Given the description of an element on the screen output the (x, y) to click on. 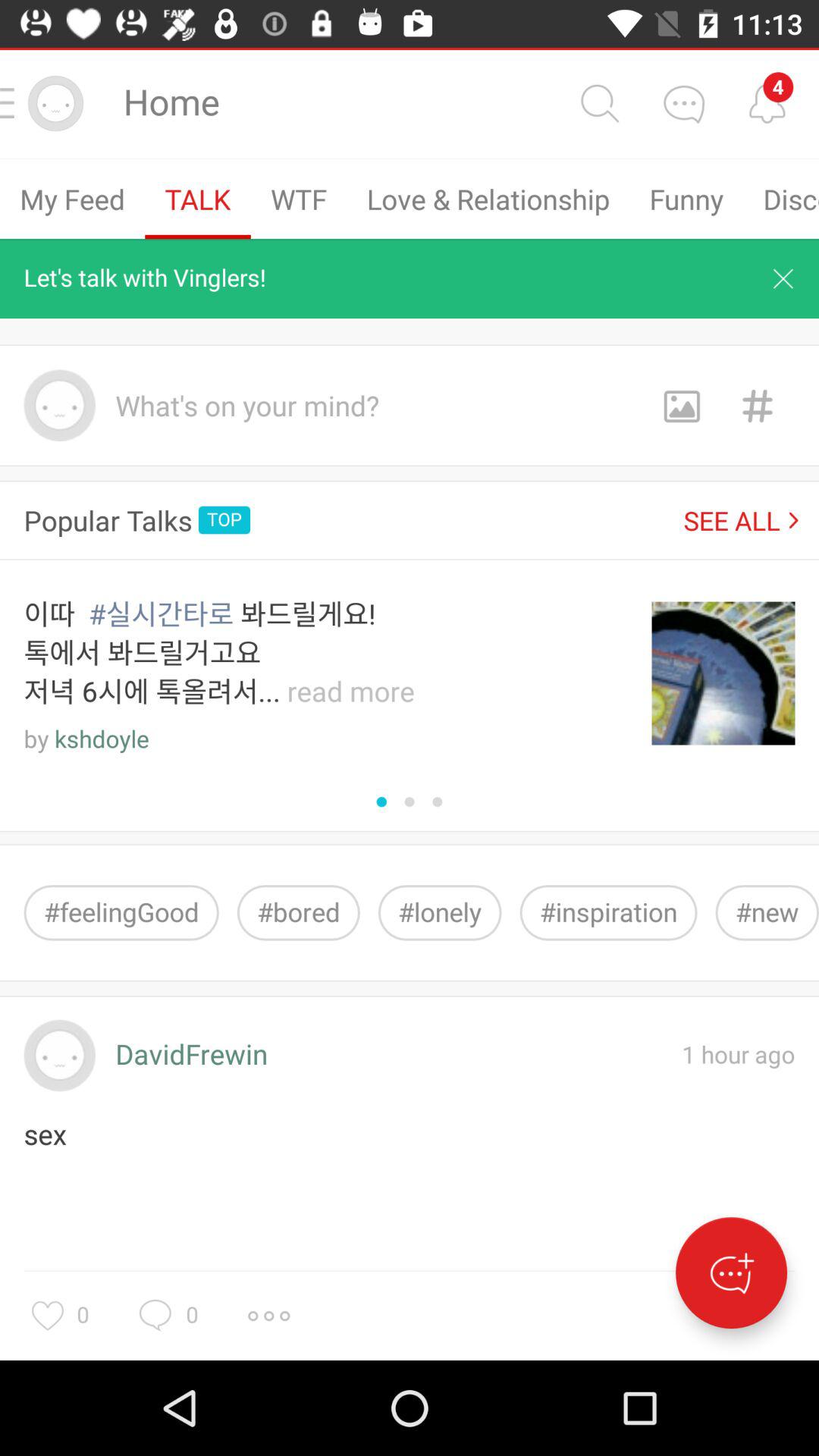
read comments (766, 103)
